Given the description of an element on the screen output the (x, y) to click on. 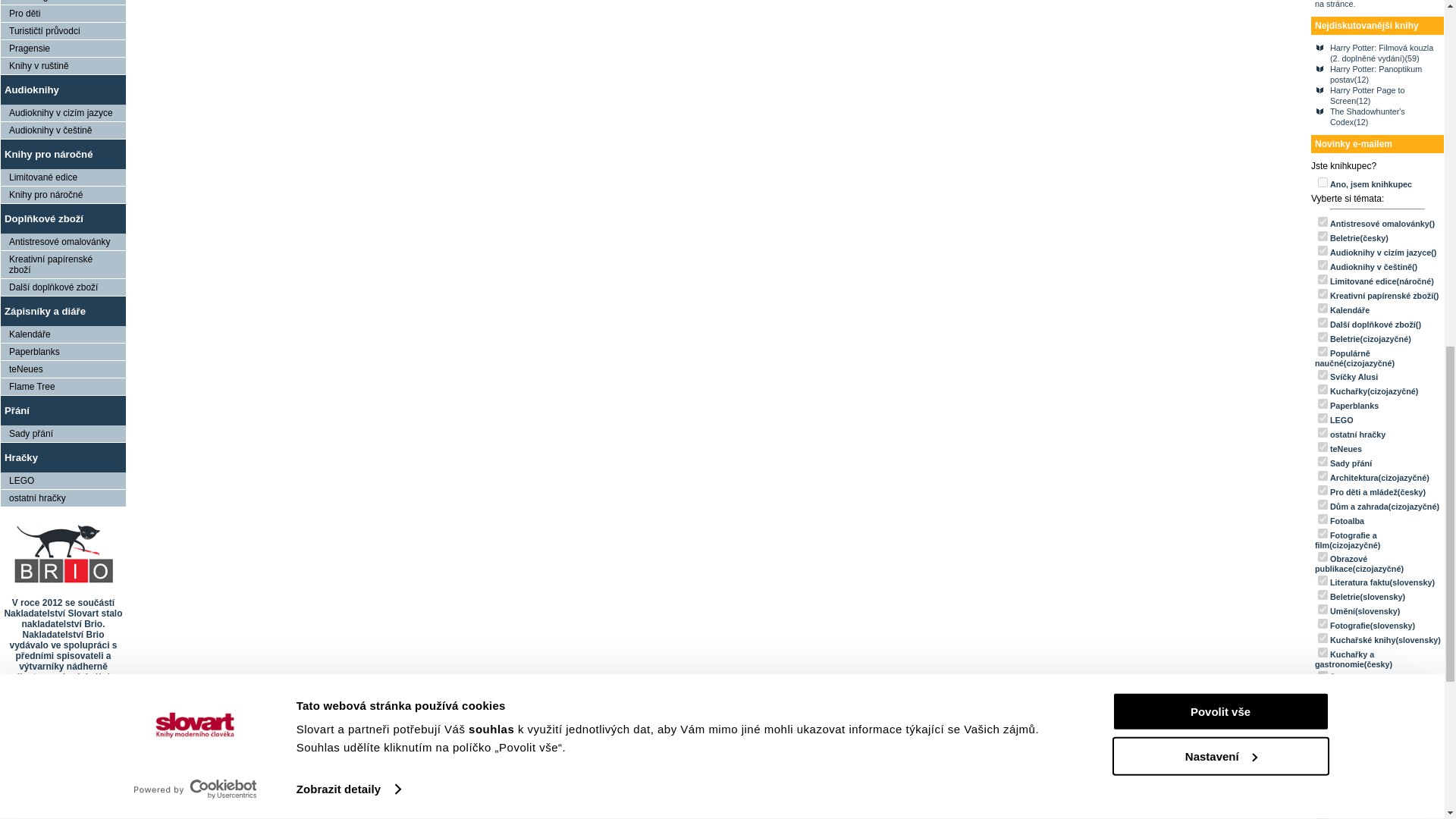
9820 (1322, 337)
19356 (1322, 265)
9941 (1322, 235)
13080 (1322, 432)
16382 (1322, 293)
20372 (1322, 250)
12305 (1322, 418)
9799 (1322, 388)
13483 (1322, 375)
10036 (1322, 403)
